Given the description of an element on the screen output the (x, y) to click on. 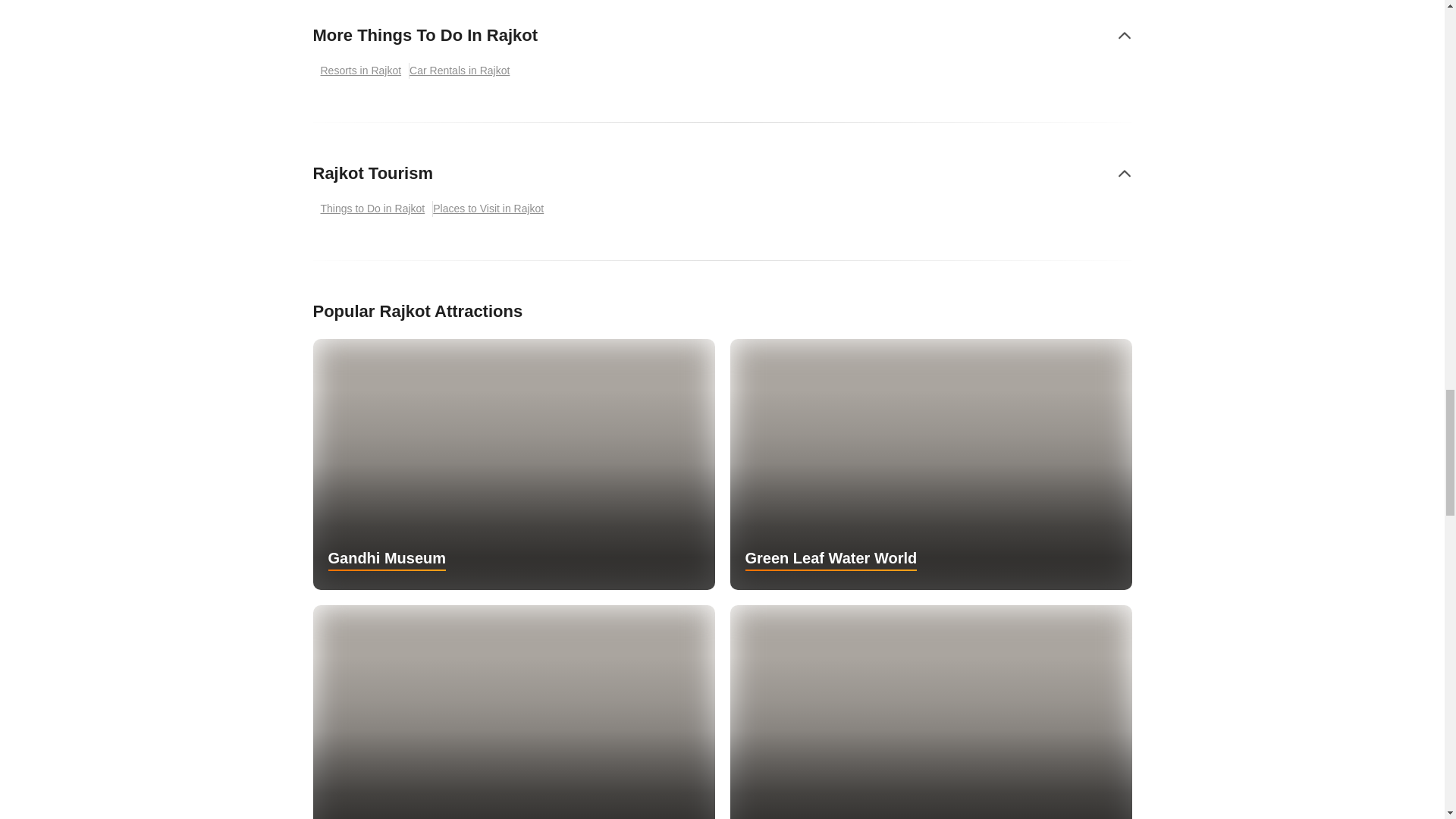
Baps Shri Swaminarayan Mandir (513, 712)
Iskcon Temple (930, 712)
Places to Visit in Rajkot (491, 208)
Things to Do in Rajkot (372, 208)
Resorts in Rajkot (361, 70)
Green Leaf Water World (930, 464)
Car Rentals in Rajkot (462, 70)
Gandhi Museum (513, 464)
